Given the description of an element on the screen output the (x, y) to click on. 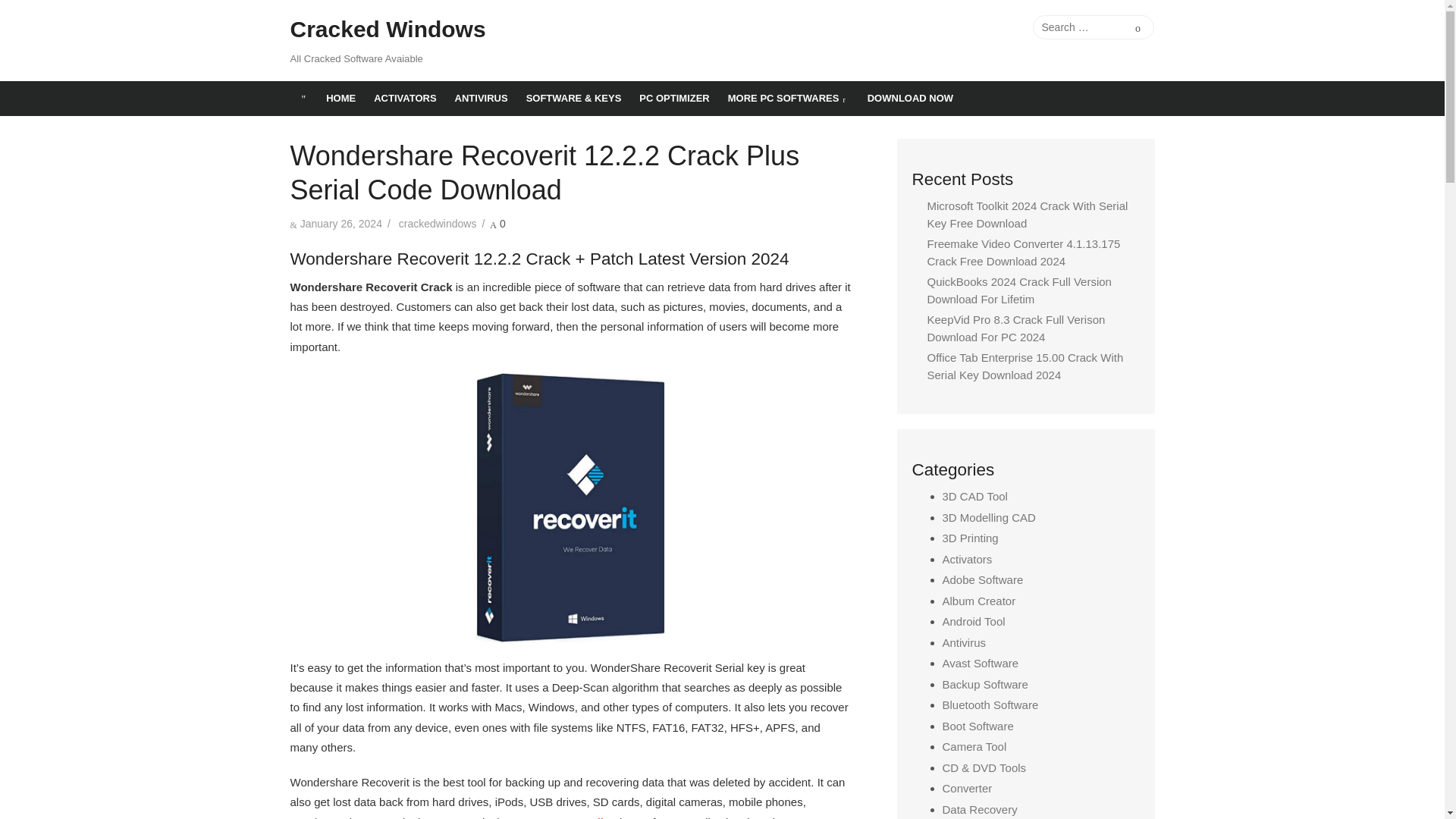
ANTIVIRUS (480, 98)
DOWNLOAD NOW (910, 98)
Cracked Windows (303, 98)
Search (1137, 27)
Cracked Windows (386, 29)
HOME (341, 98)
ACTIVATORS (405, 98)
MORE PC SOFTWARES (789, 98)
PC OPTIMIZER (673, 98)
